Given the description of an element on the screen output the (x, y) to click on. 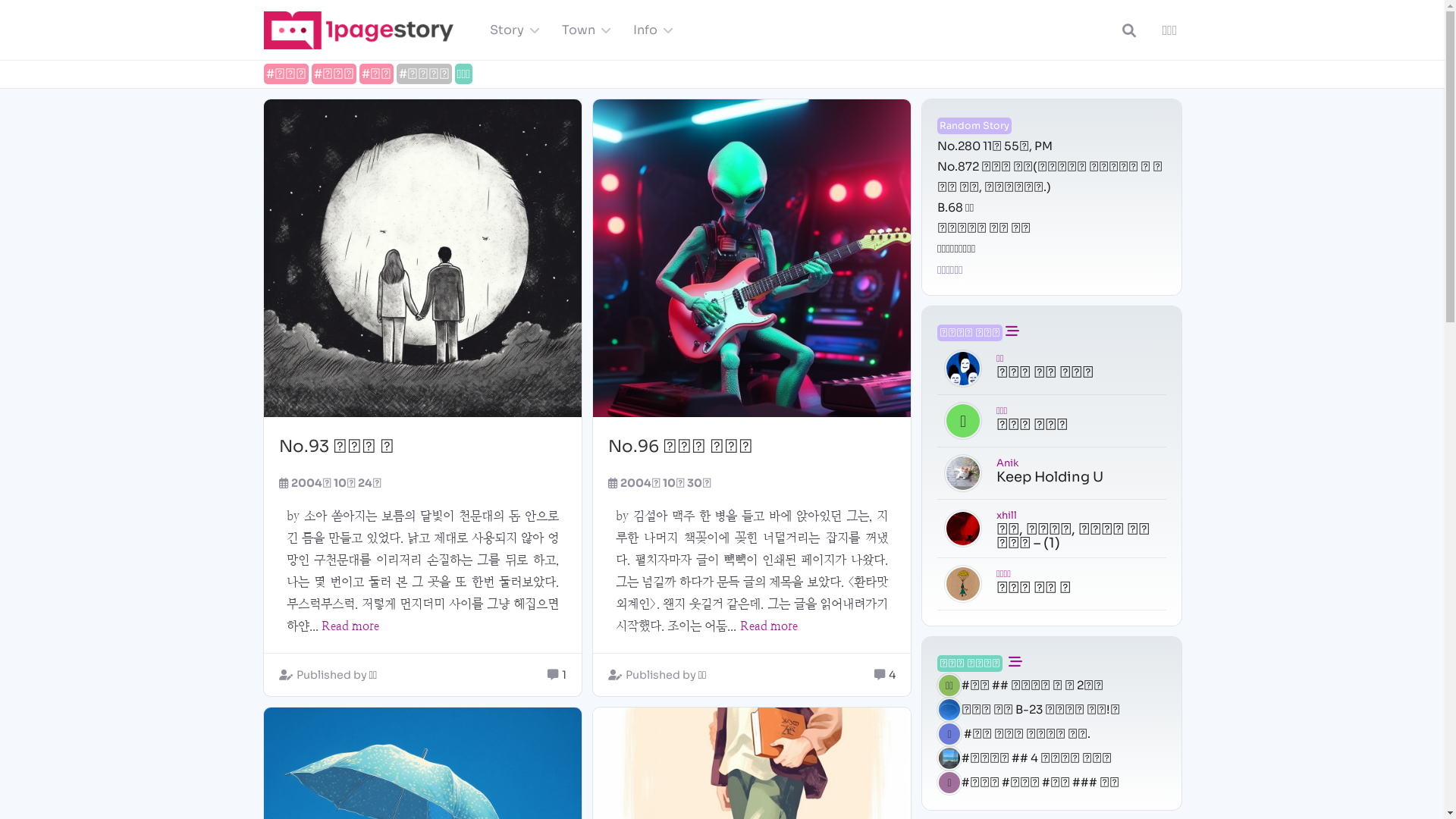
xhill Element type: text (1006, 513)
Read more Element type: text (768, 625)
Keep Holding U Element type: text (1049, 476)
Read more Element type: text (350, 625)
Town Element type: text (582, 30)
Info Element type: text (649, 30)
4 Element type: text (891, 674)
Story Element type: text (510, 30)
Anik Element type: text (1007, 461)
1 Element type: text (563, 674)
